Given the description of an element on the screen output the (x, y) to click on. 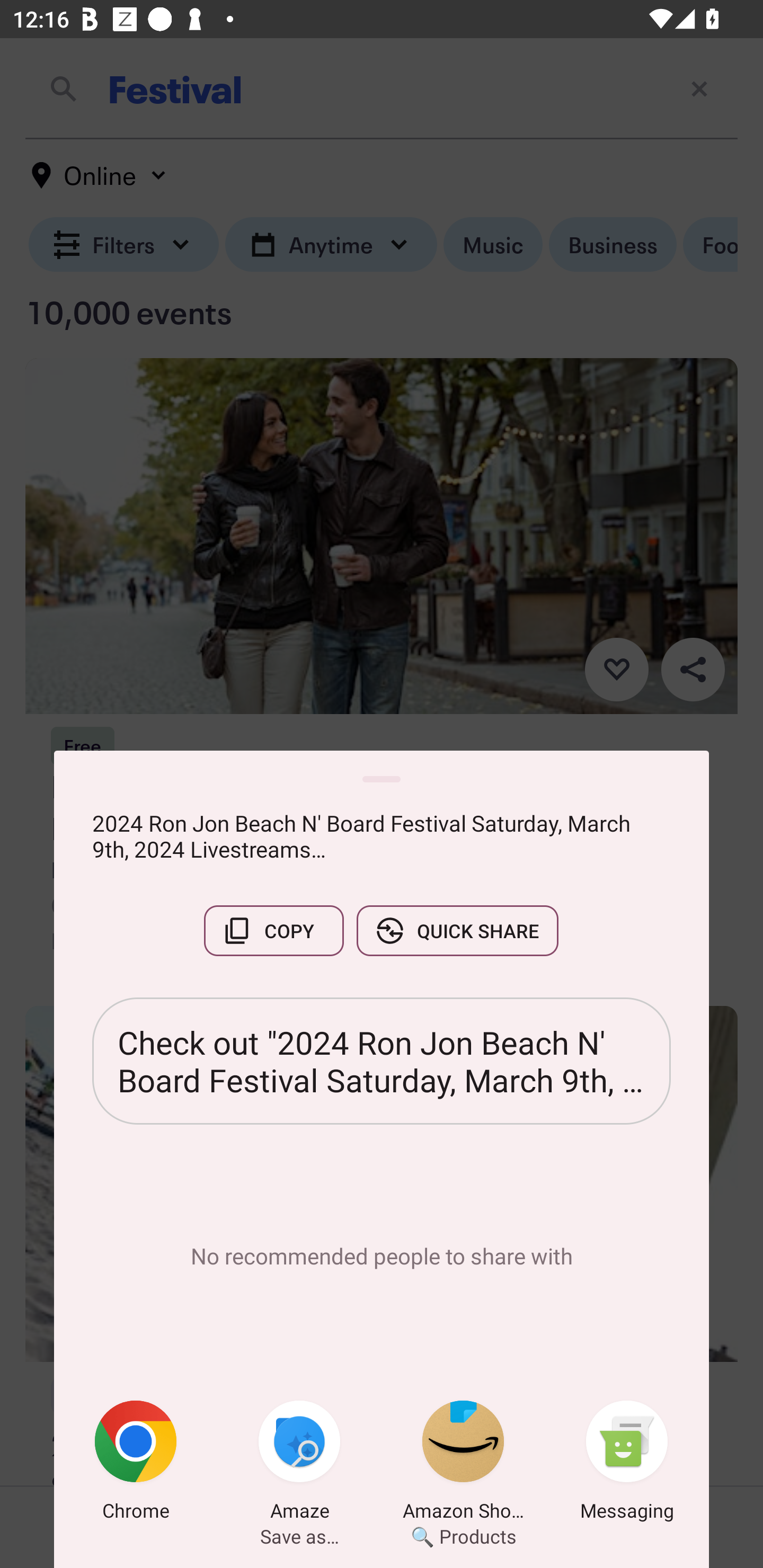
COPY (273, 930)
QUICK SHARE (457, 930)
Chrome (135, 1463)
Amaze Save as… (299, 1463)
Amazon Shopping 🔍 Products (463, 1463)
Messaging (626, 1463)
